Given the description of an element on the screen output the (x, y) to click on. 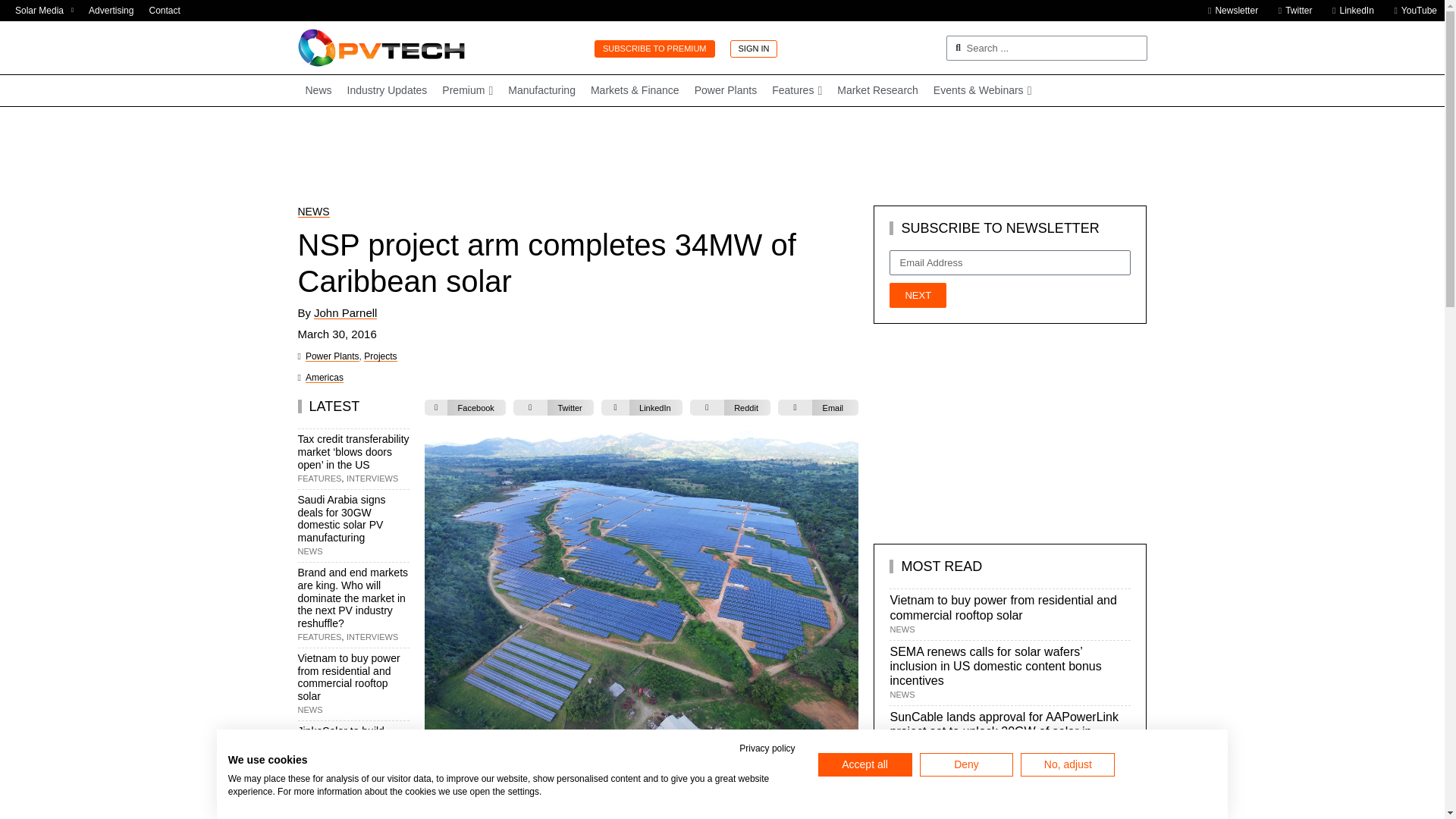
Contact (164, 10)
Newsletter (1228, 10)
Opens in a new window (1411, 10)
YouTube (1411, 10)
3rd party ad content (721, 156)
SUBSCRIBE TO PREMIUM (654, 48)
Opens in a new window (44, 10)
LinkedIn (1348, 10)
Opens in a new window (1290, 10)
SIGN IN (753, 48)
Industry Updates (387, 90)
News (318, 90)
Advertising (111, 10)
Opens in a new window (1348, 10)
Twitter (1290, 10)
